Given the description of an element on the screen output the (x, y) to click on. 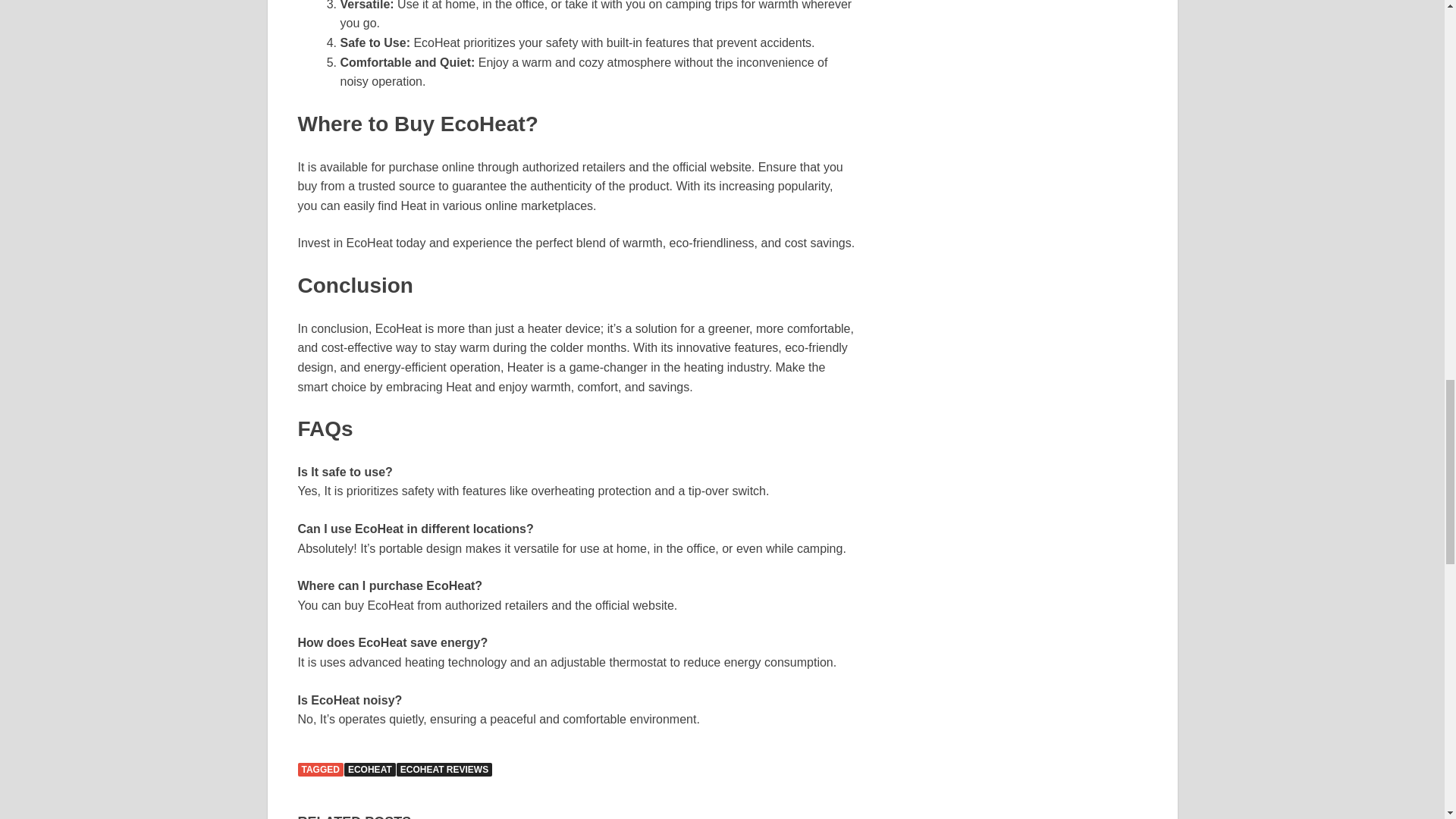
ECOHEAT (369, 769)
ECOHEAT REVIEWS (444, 769)
